Given the description of an element on the screen output the (x, y) to click on. 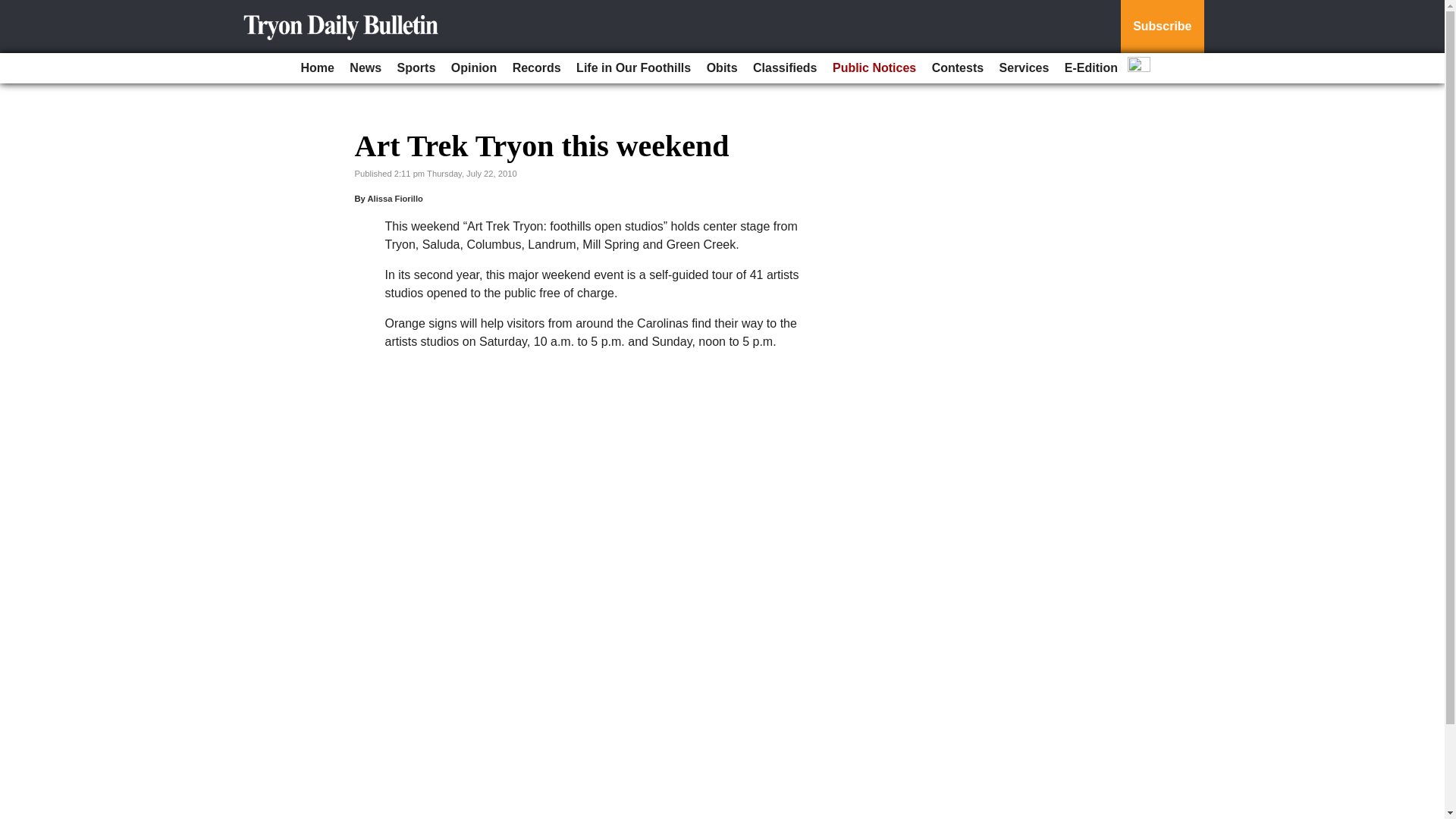
Classifieds (784, 68)
Services (1023, 68)
Opinion (473, 68)
Life in Our Foothills (633, 68)
E-Edition (1091, 68)
Public Notices (874, 68)
News (365, 68)
Alissa Fiorillo (394, 198)
Records (536, 68)
Sports (416, 68)
